Given the description of an element on the screen output the (x, y) to click on. 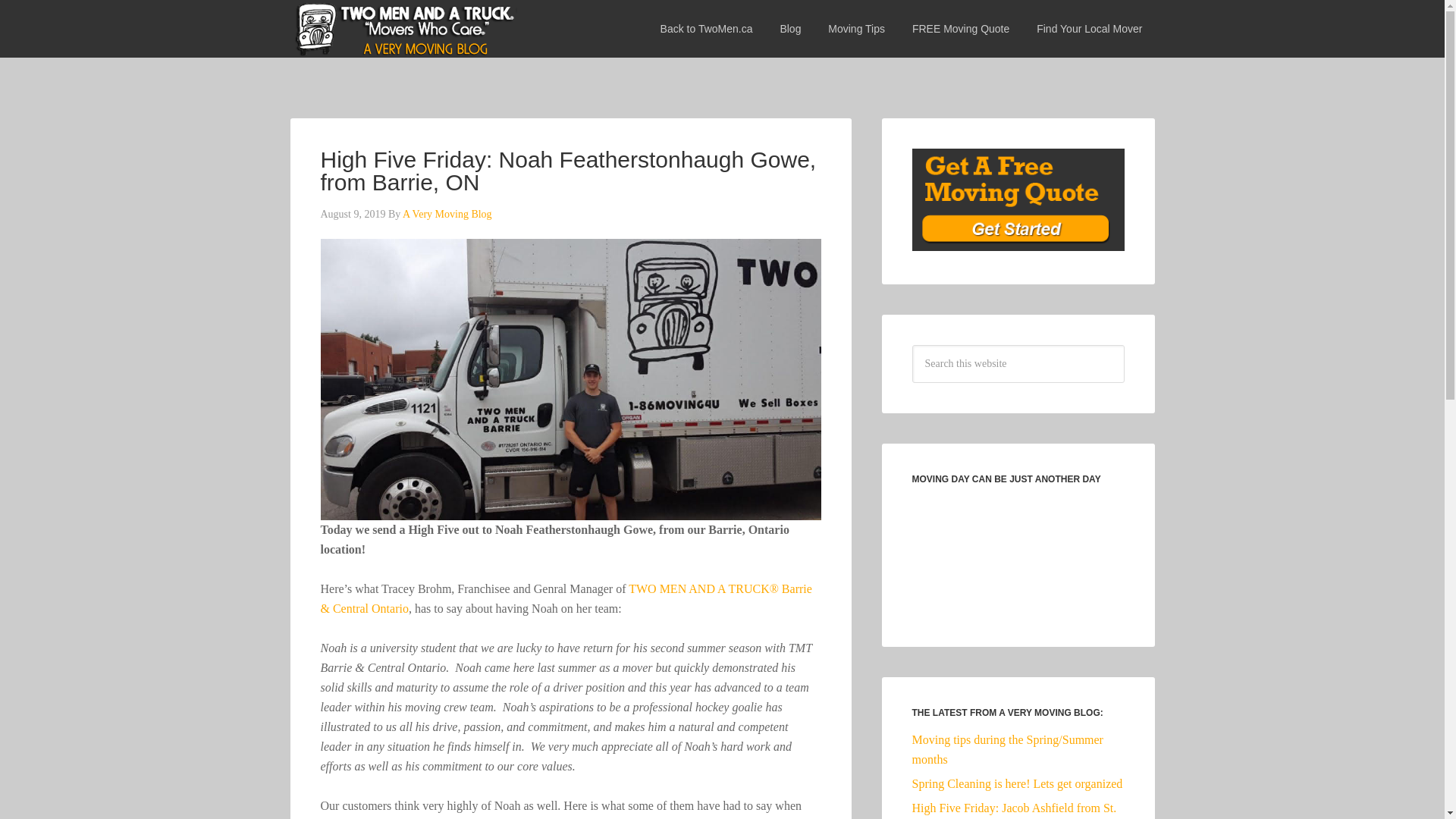
FREE Moving Quote (960, 23)
Moving Tips (855, 23)
Spring Cleaning is here! Lets get organized (1016, 783)
Blog (789, 23)
A Very Moving Blog (447, 214)
Back to TwoMen.ca (706, 23)
Visit TwoMenAndAtruck.ca (706, 23)
Find Your Local Mover (1089, 23)
